Given the description of an element on the screen output the (x, y) to click on. 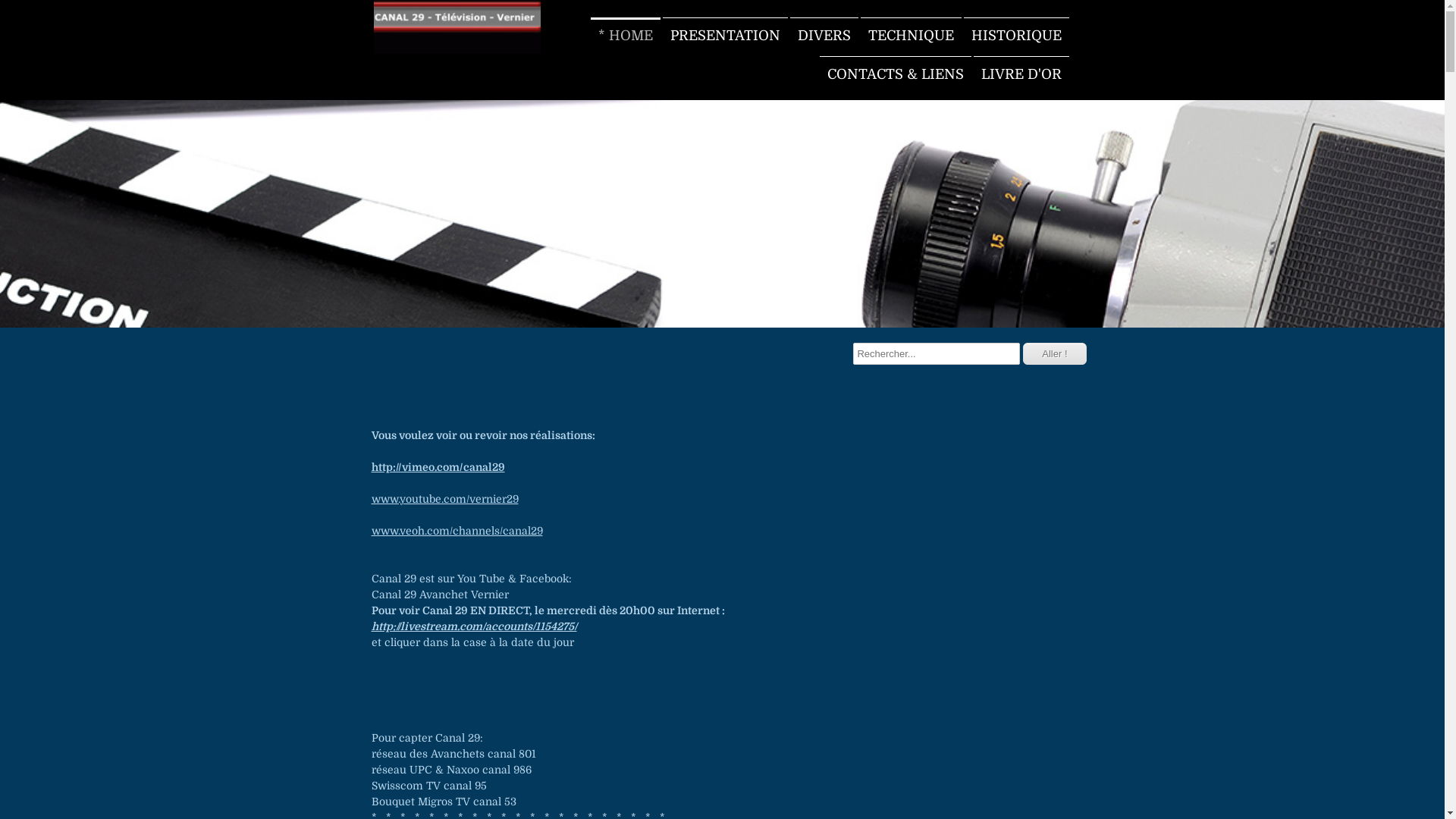
TECHNIQUE Element type: text (909, 35)
PRESENTATION Element type: text (724, 35)
www.veoh.com/channels/canal29 Element type: text (456, 530)
DIVERS Element type: text (824, 35)
http://vimeo.com/canal29 Element type: text (438, 467)
LIVRE D'OR Element type: text (1021, 73)
http://livestream.com/accounts/1154275/ Element type: text (474, 626)
HISTORIQUE Element type: text (1015, 35)
* HOME Element type: text (624, 35)
CONTACTS & LIENS Element type: text (894, 73)
www.youtube.com/vernier29 Element type: text (444, 498)
